Given the description of an element on the screen output the (x, y) to click on. 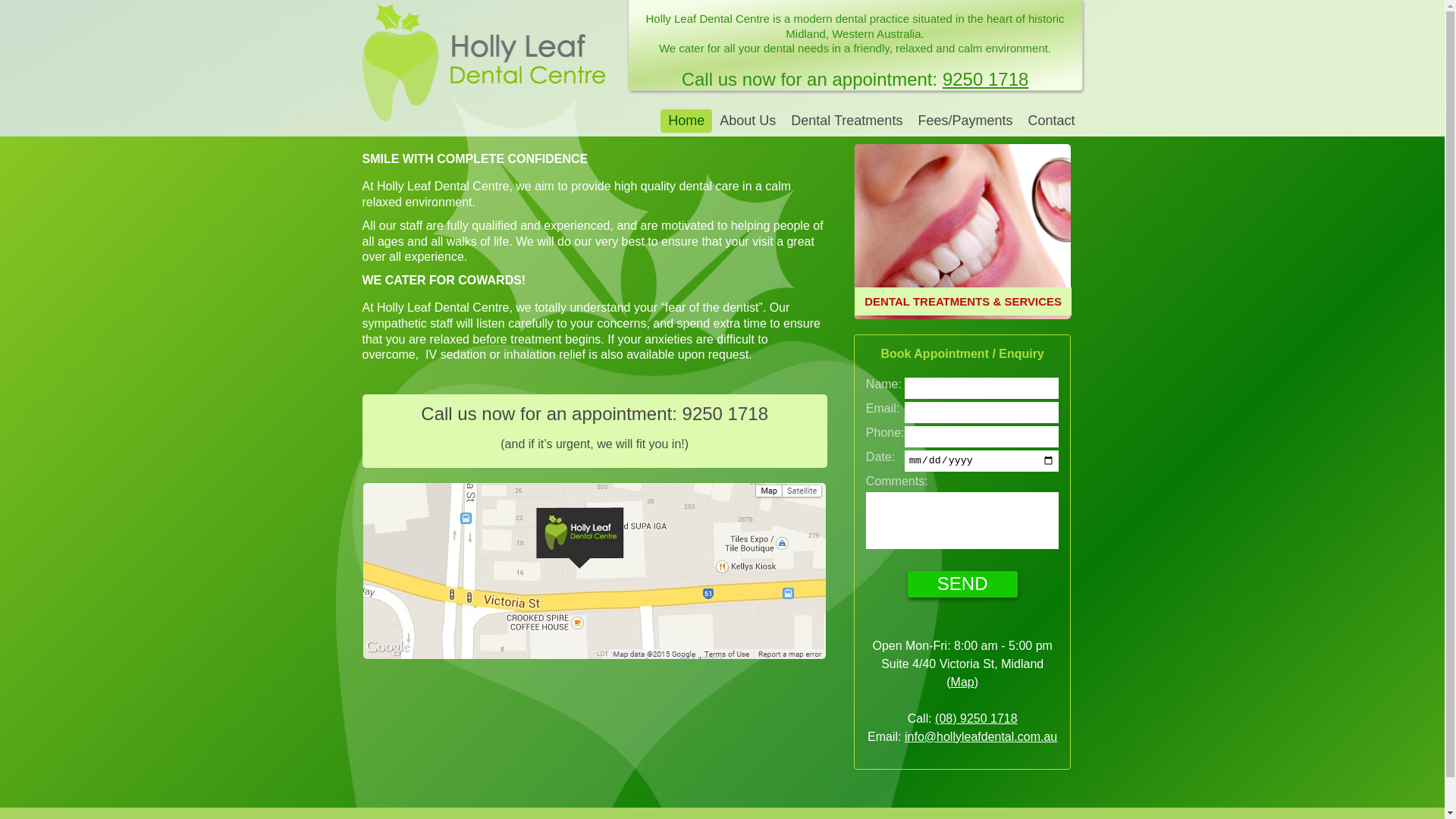
Home Element type: text (686, 120)
SEND Element type: text (962, 584)
Map Element type: text (962, 681)
Fees/Payments Element type: text (964, 120)
About Us Element type: text (747, 120)
Dental Treatments Element type: text (846, 120)
Contact Element type: text (1050, 120)
(08) 9250 1718 Element type: text (976, 718)
9250 1718 Element type: text (985, 78)
DENTAL TREATMENTS & SERVICES Element type: text (962, 231)
info@hollyleafdental.com.au Element type: text (980, 736)
